Given the description of an element on the screen output the (x, y) to click on. 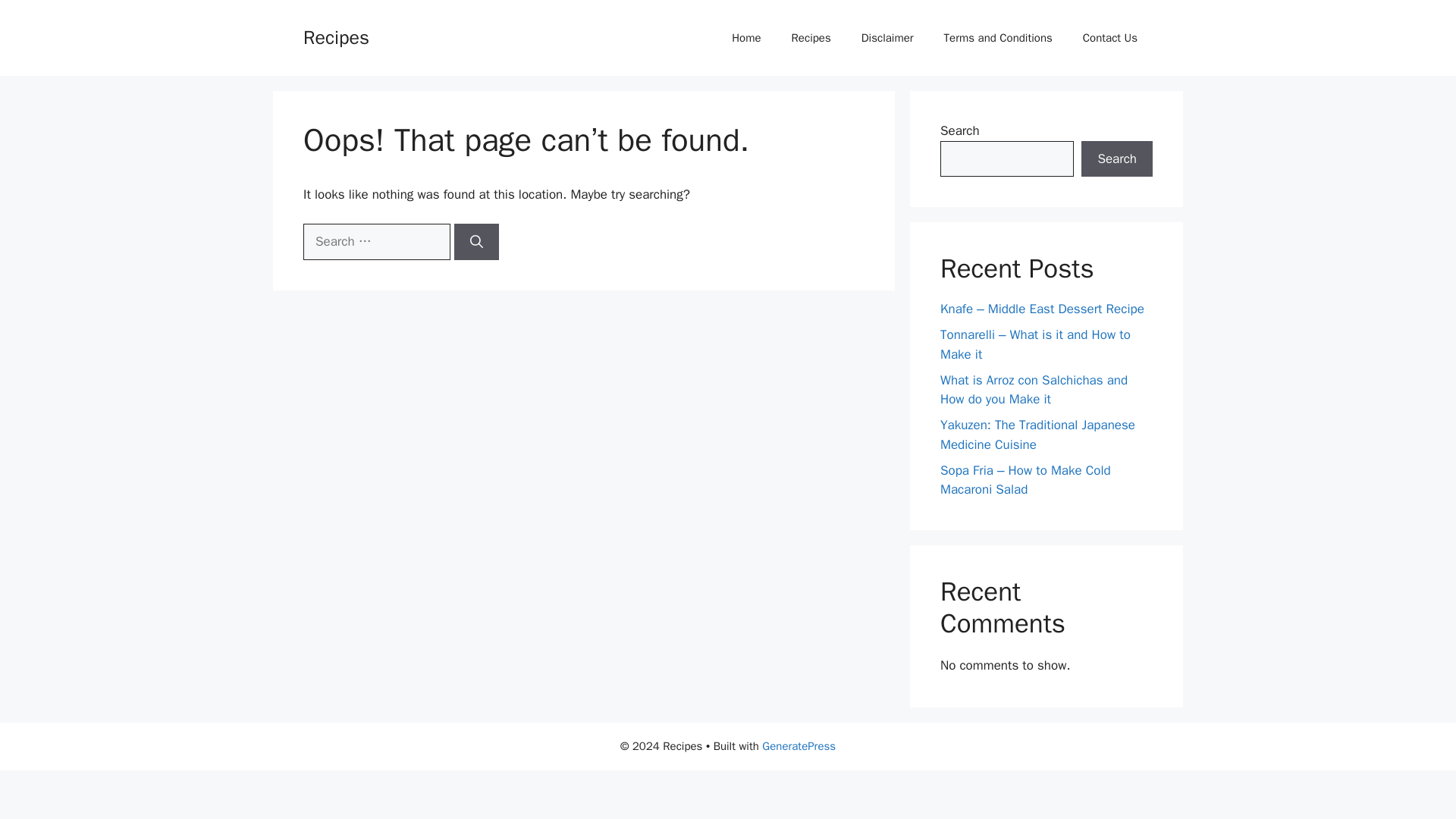
What is Arroz con Salchichas and How do you Make it (1033, 389)
Recipes (810, 37)
GeneratePress (798, 745)
Home (746, 37)
Search (1117, 158)
Recipes (335, 37)
Terms and Conditions (997, 37)
Contact Us (1110, 37)
Disclaimer (886, 37)
Yakuzen: The Traditional Japanese Medicine Cuisine (1037, 434)
Search for: (375, 241)
